Given the description of an element on the screen output the (x, y) to click on. 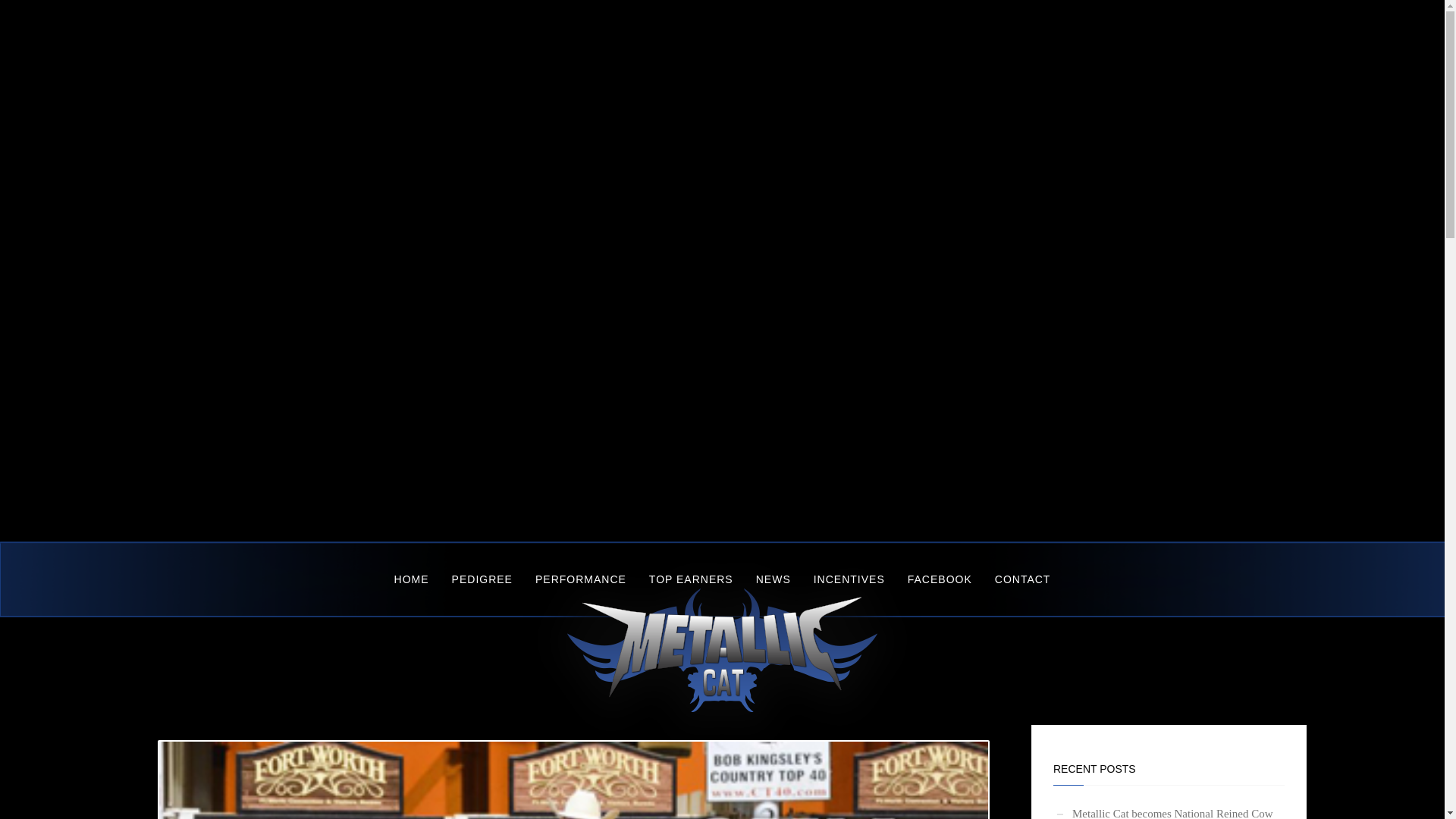
Performance (580, 577)
PEDIGREE (482, 577)
FACEBOOK (940, 577)
Contact (1023, 577)
PERFORMANCE (580, 577)
Incentives (849, 577)
CONTACT (1023, 577)
Pedigree (482, 577)
Top Earners (690, 577)
TOP EARNERS (690, 577)
Facebook (940, 577)
INCENTIVES (849, 577)
